Given the description of an element on the screen output the (x, y) to click on. 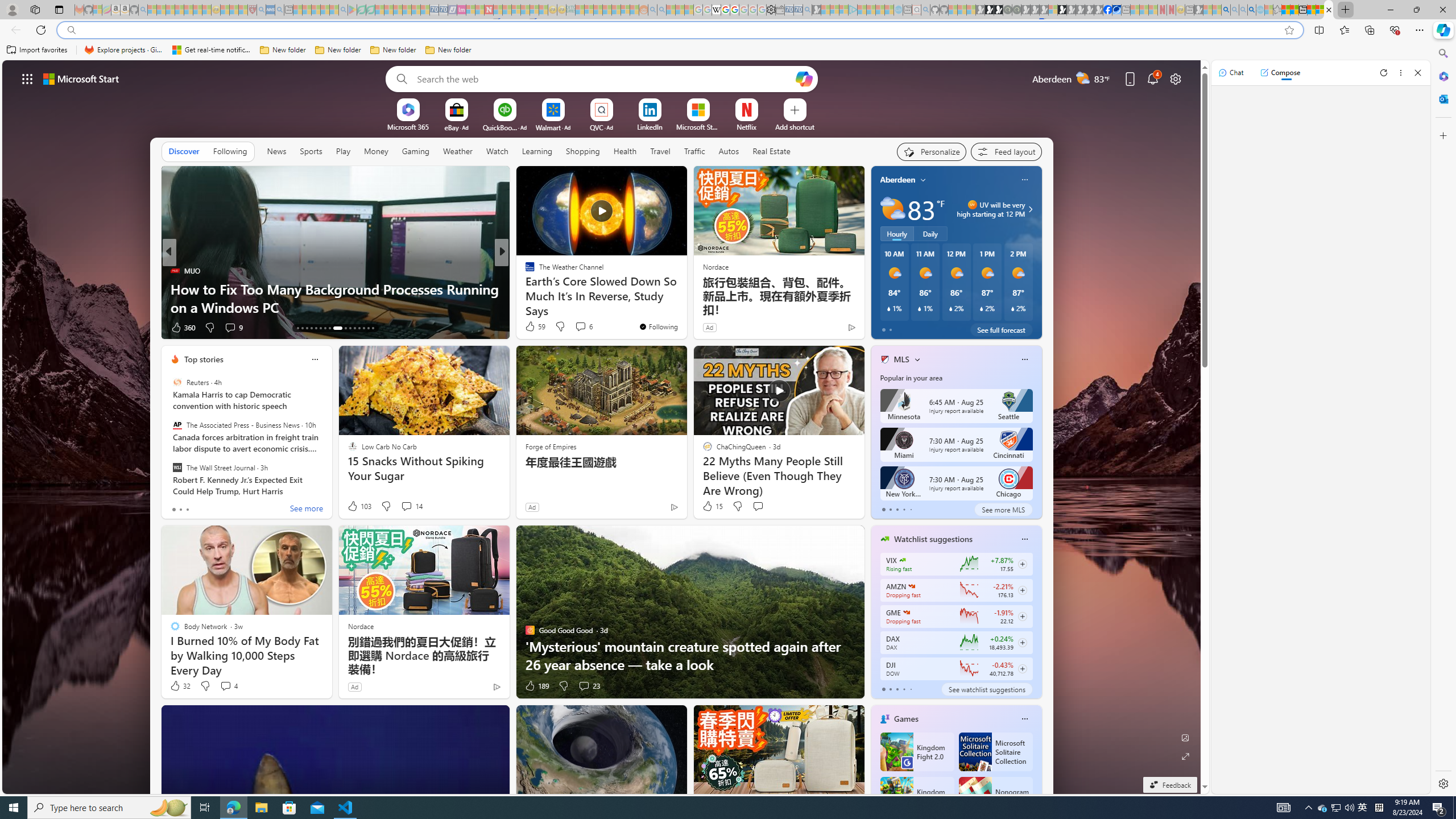
Learning (537, 151)
View comments 11 Comment (580, 327)
Kinda Frugal - MSN - Sleeping (616, 9)
Pets - MSN - Sleeping (324, 9)
New Report Confirms 2023 Was Record Hot | Watch - Sleeping (188, 9)
AutomationID: tab-22 (345, 328)
AutomationID: tab-14 (301, 328)
